Given the description of an element on the screen output the (x, y) to click on. 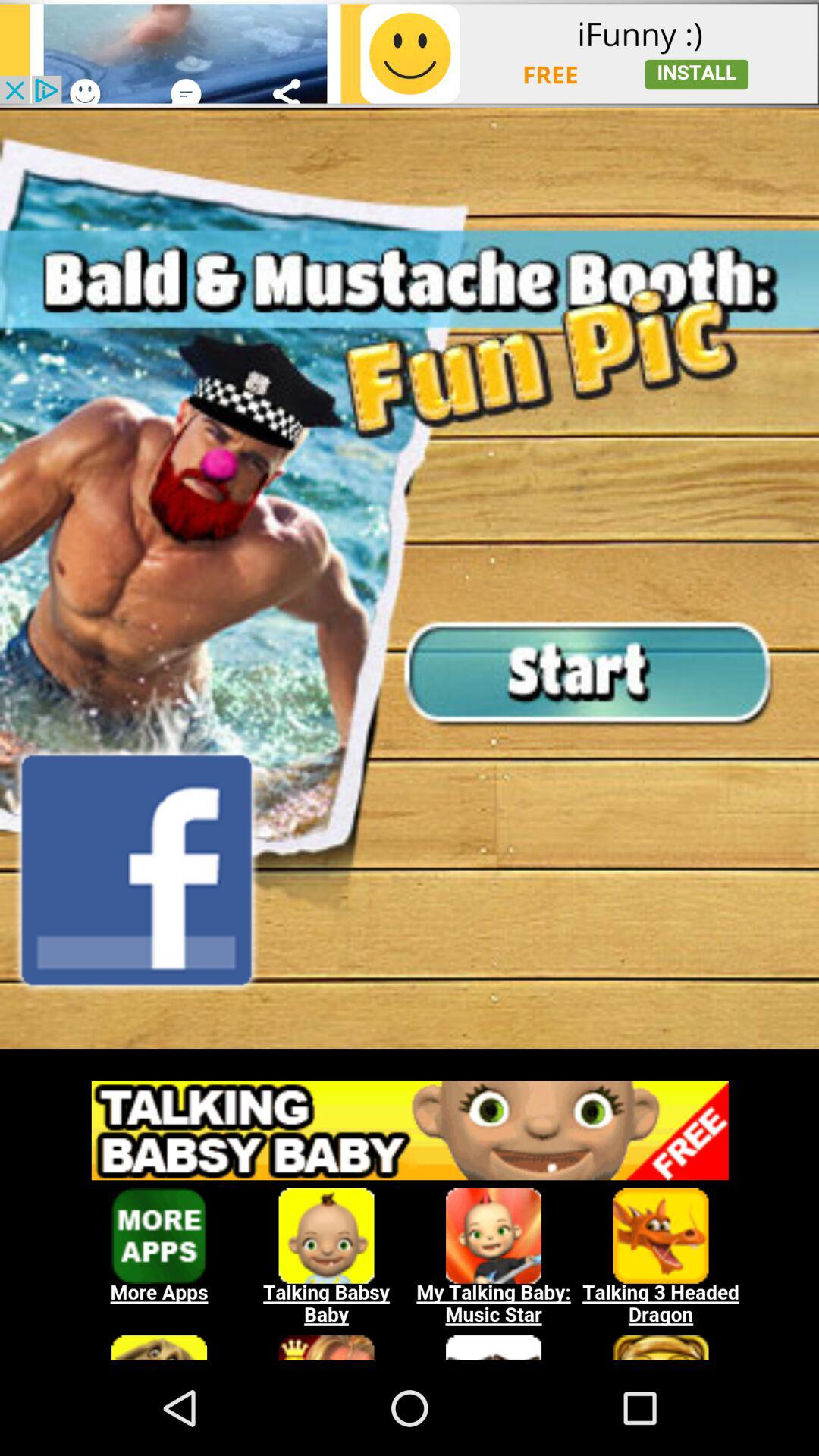
to open facebook link (136, 869)
